Given the description of an element on the screen output the (x, y) to click on. 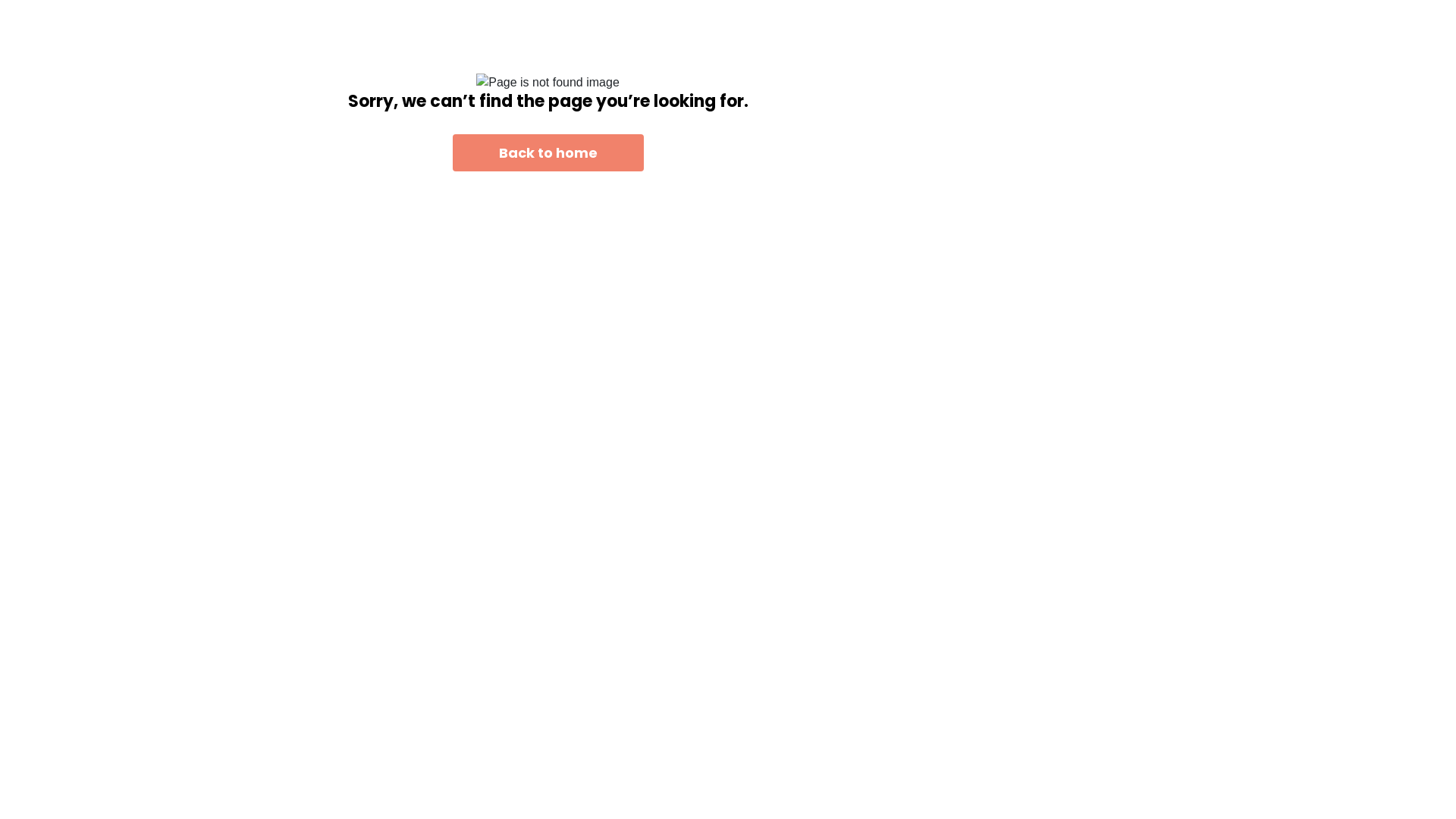
Back to home Element type: text (547, 151)
Back to home Element type: text (547, 152)
